Given the description of an element on the screen output the (x, y) to click on. 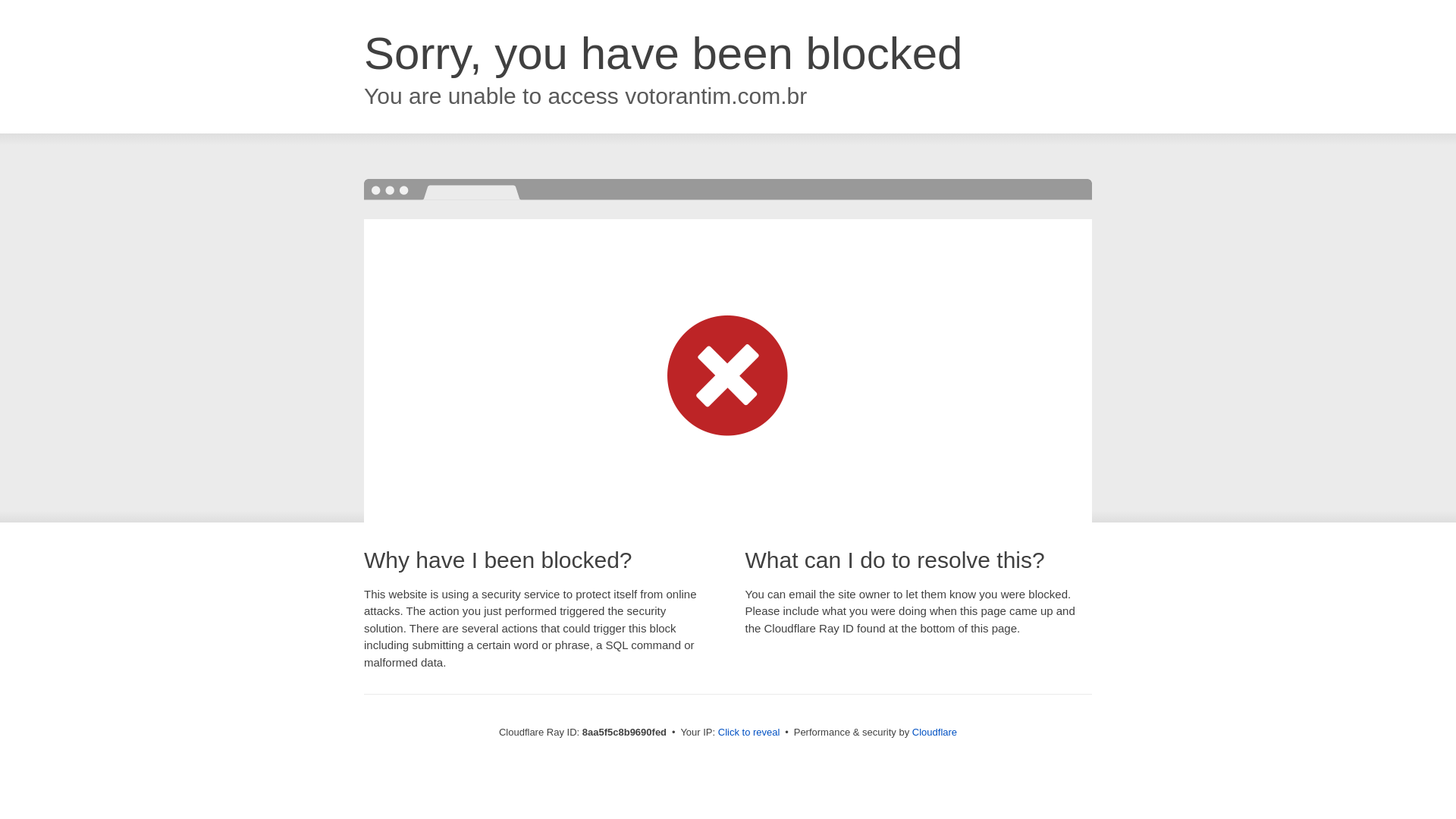
Cloudflare (934, 731)
Click to reveal (748, 732)
